Given the description of an element on the screen output the (x, y) to click on. 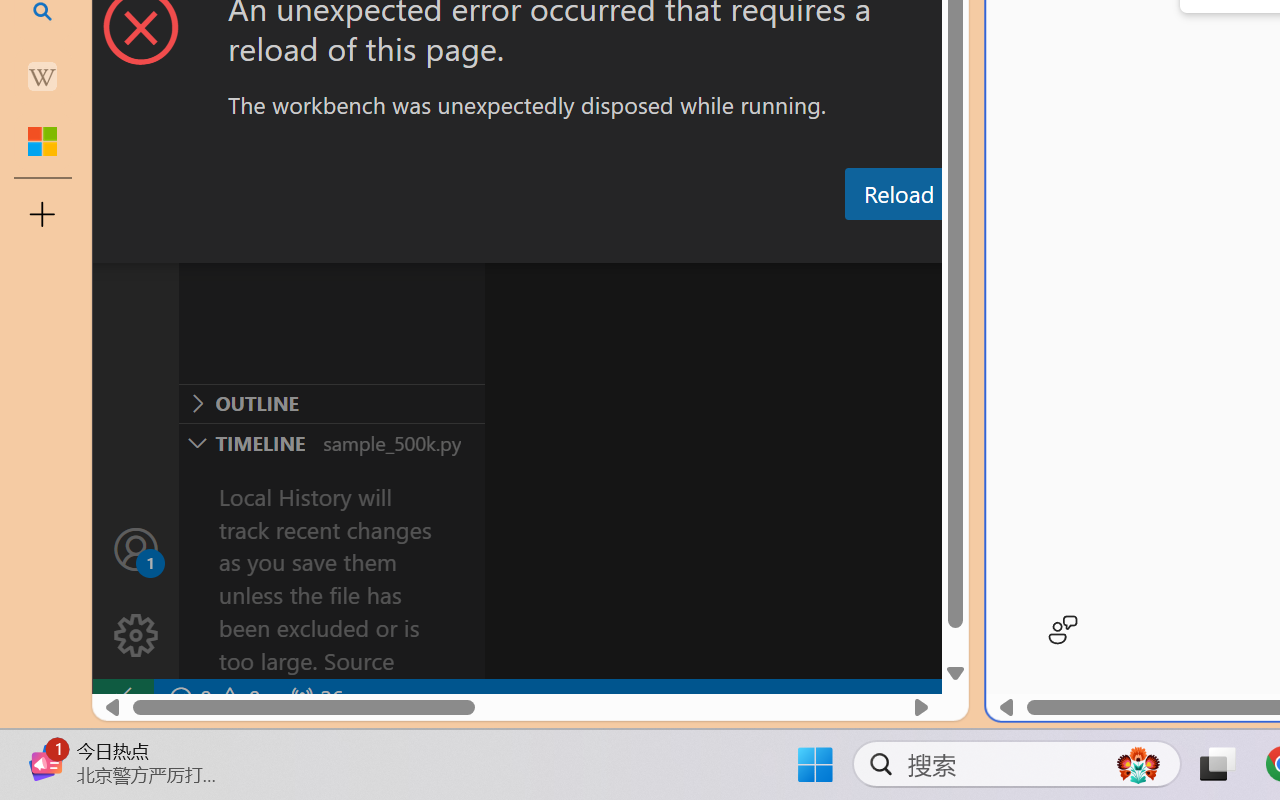
remote (122, 698)
Problems (Ctrl+Shift+M) (567, 243)
